Given the description of an element on the screen output the (x, y) to click on. 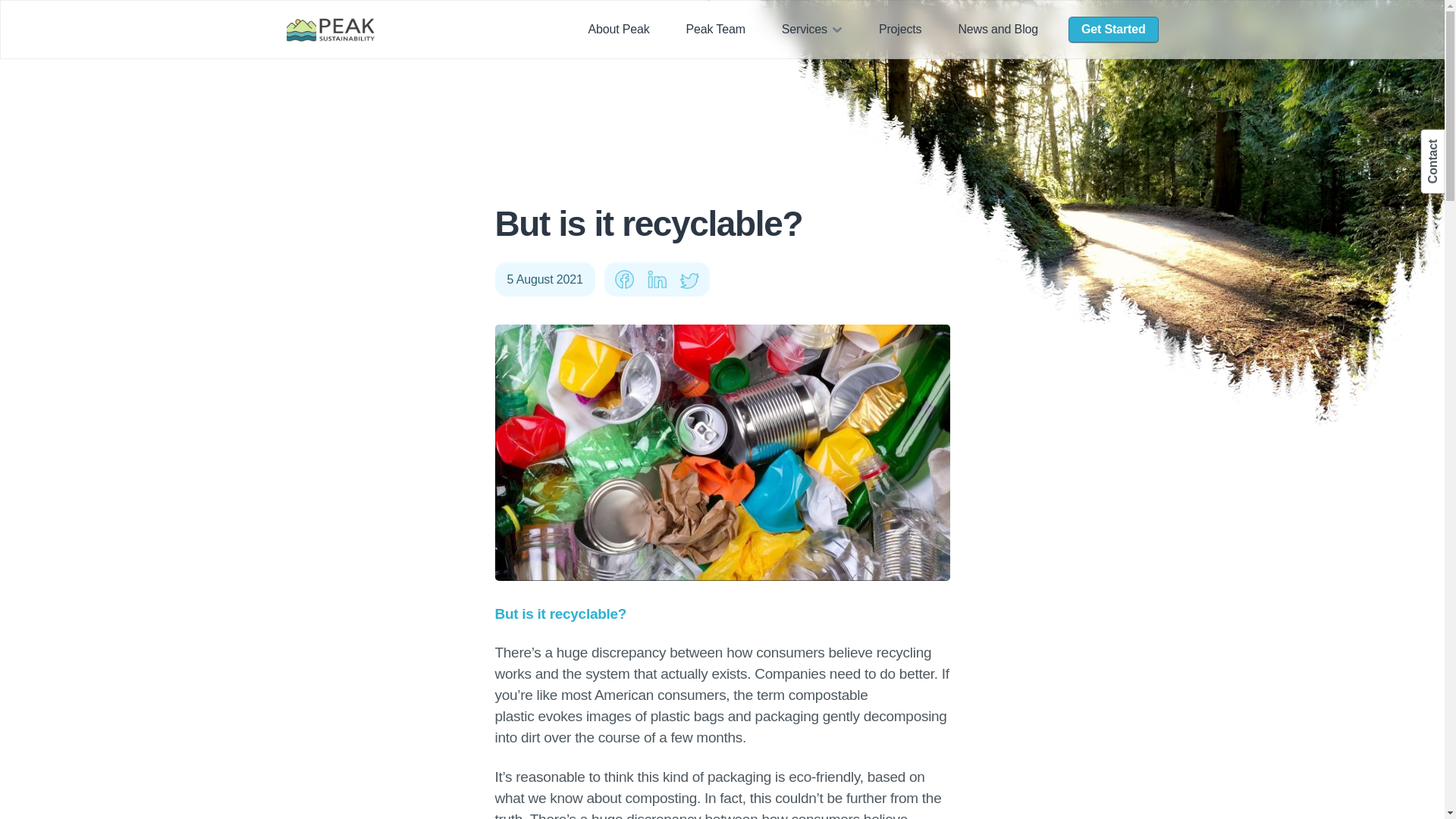
Services (812, 28)
Peak Team (715, 28)
5 August 2021 (544, 278)
Get Started (1112, 29)
Projects (900, 28)
But is it recyclable? (722, 452)
News and Blog (997, 28)
About Peak (617, 28)
But is it recyclable?  (562, 612)
